Given the description of an element on the screen output the (x, y) to click on. 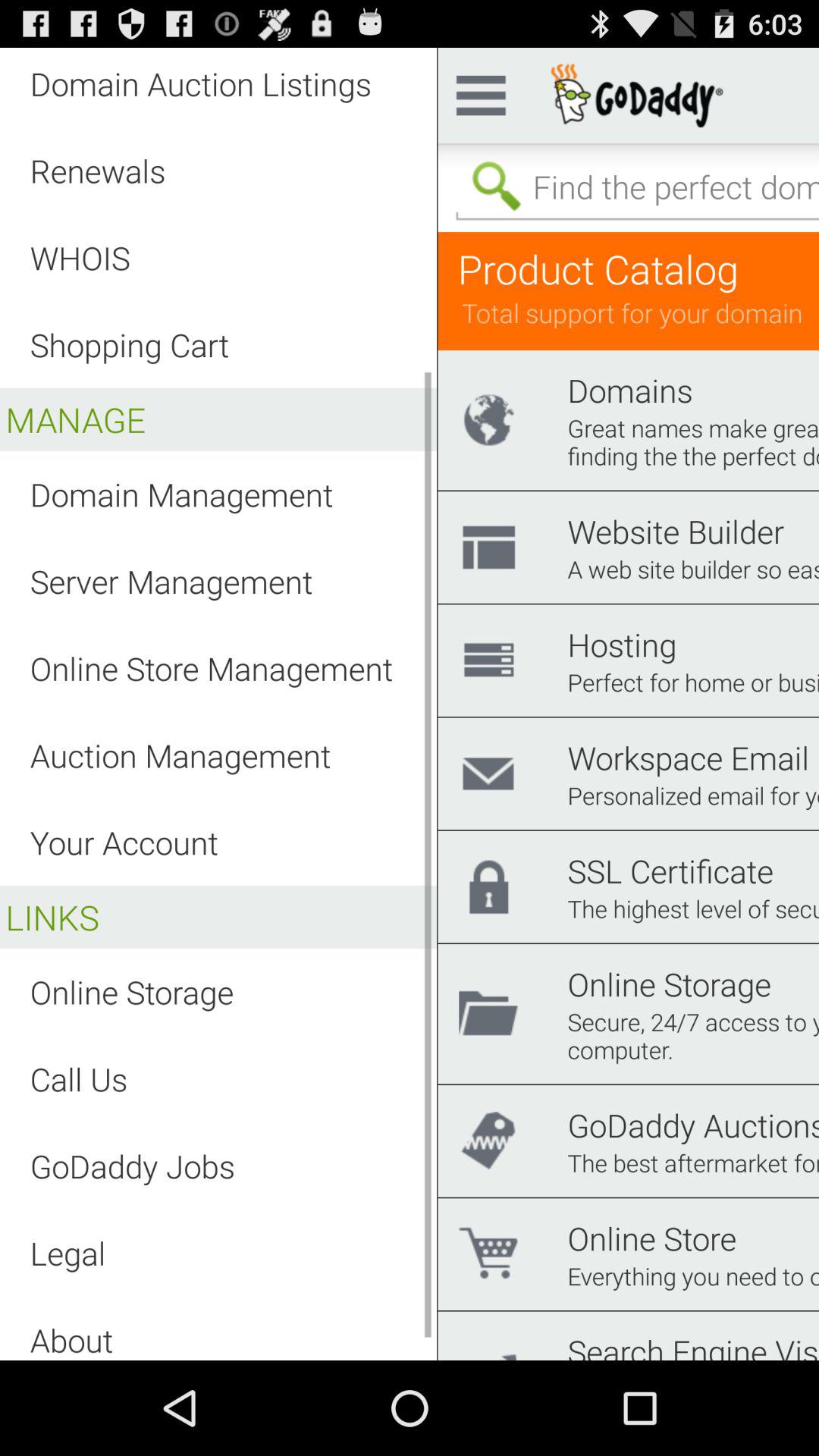
select about app (71, 1339)
